Given the description of an element on the screen output the (x, y) to click on. 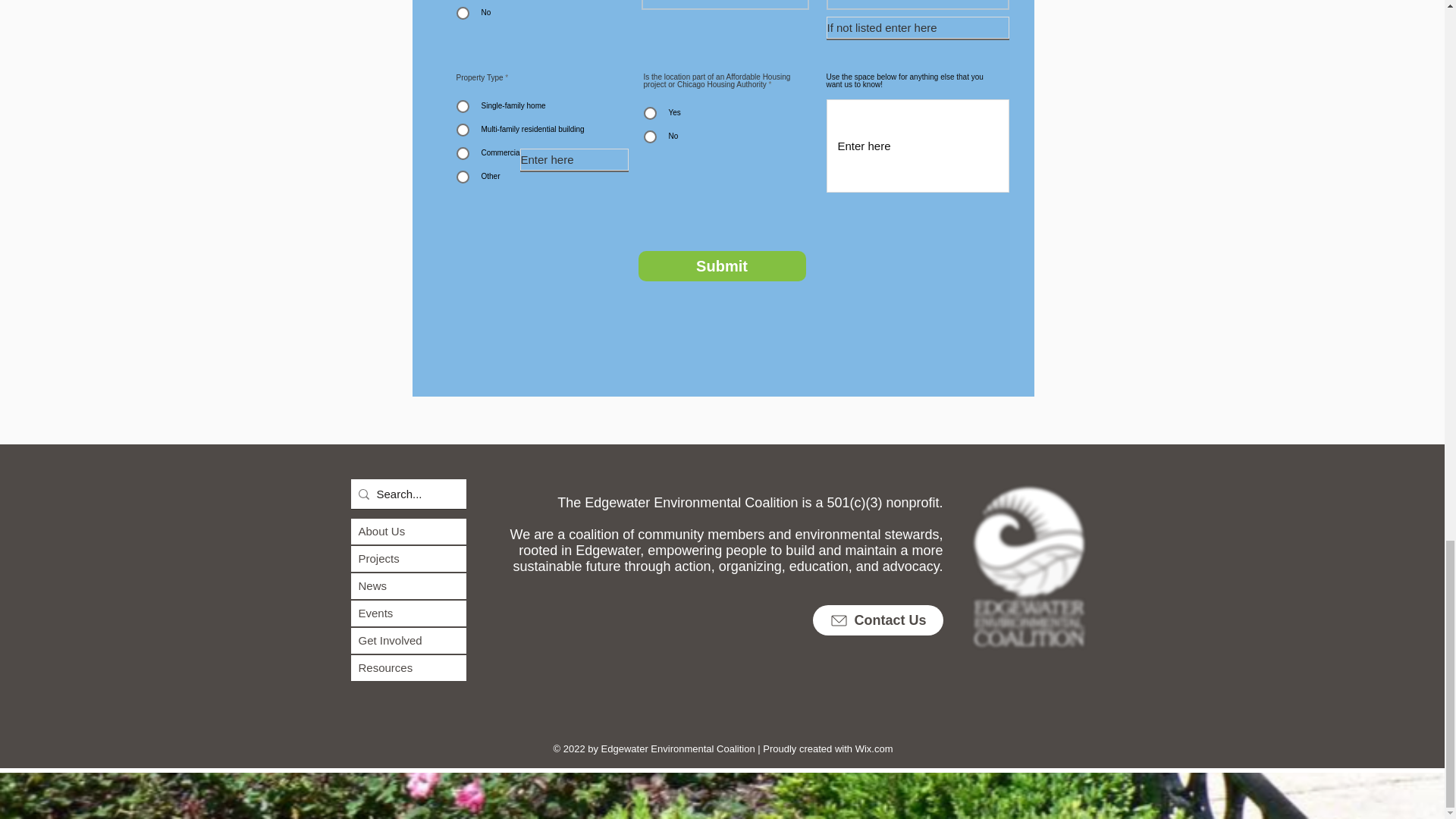
Projects (407, 558)
About Us (407, 531)
News (407, 585)
Submit (722, 265)
Resources (407, 667)
Events (407, 613)
Get Involved (407, 640)
